Given the description of an element on the screen output the (x, y) to click on. 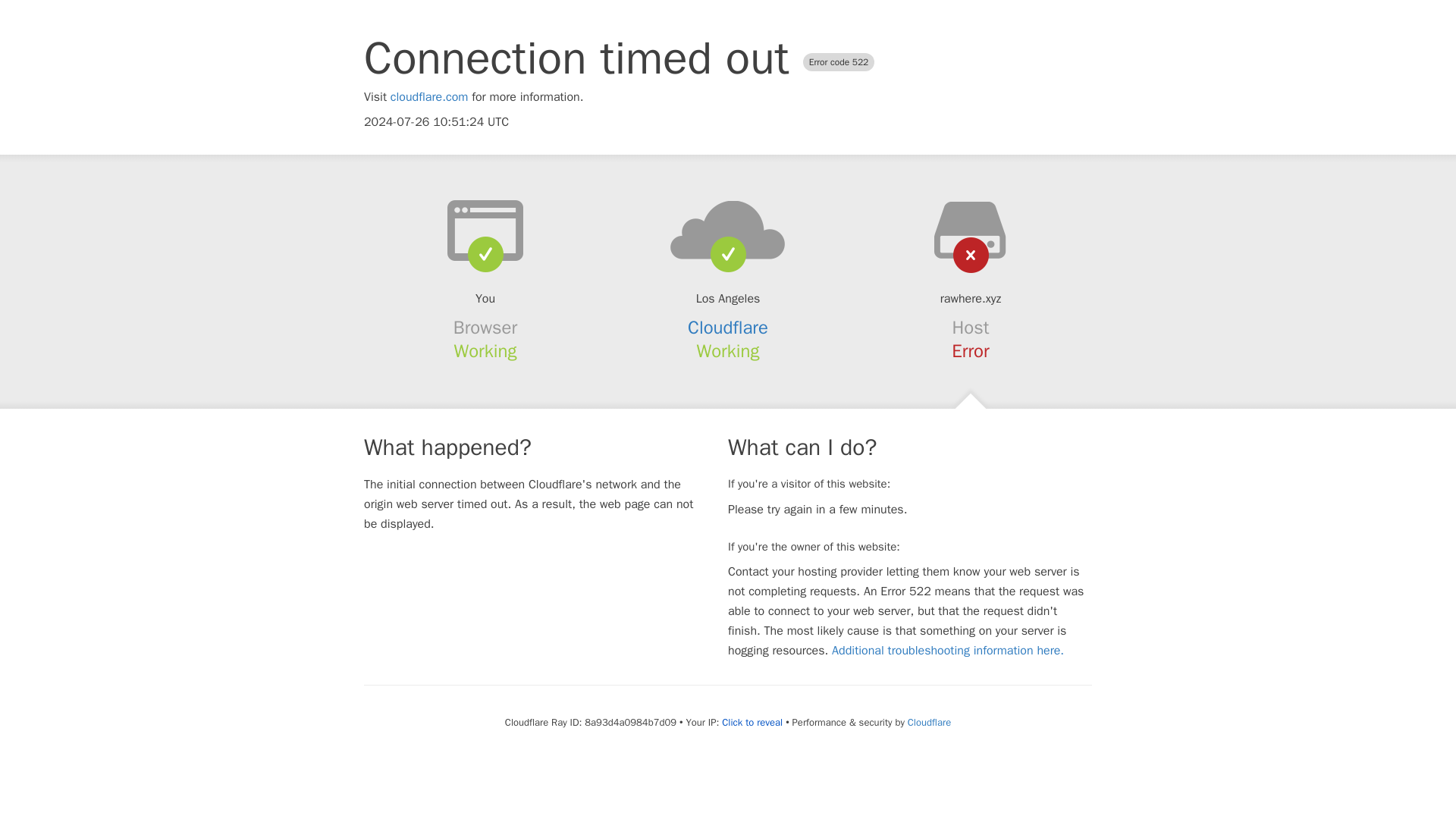
Cloudflare (928, 721)
cloudflare.com (429, 96)
Click to reveal (752, 722)
Additional troubleshooting information here. (947, 650)
Cloudflare (727, 327)
